Given the description of an element on the screen output the (x, y) to click on. 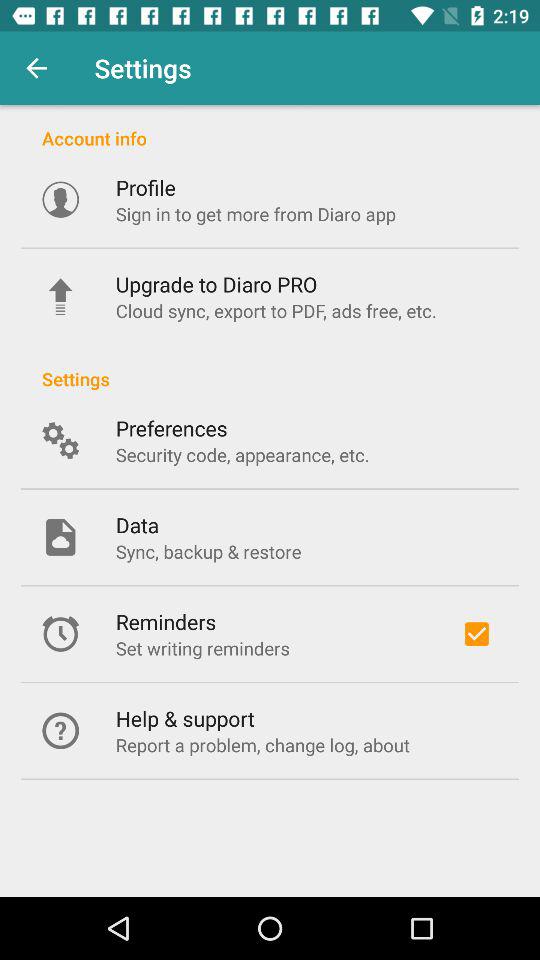
press the item below preferences item (242, 454)
